Given the description of an element on the screen output the (x, y) to click on. 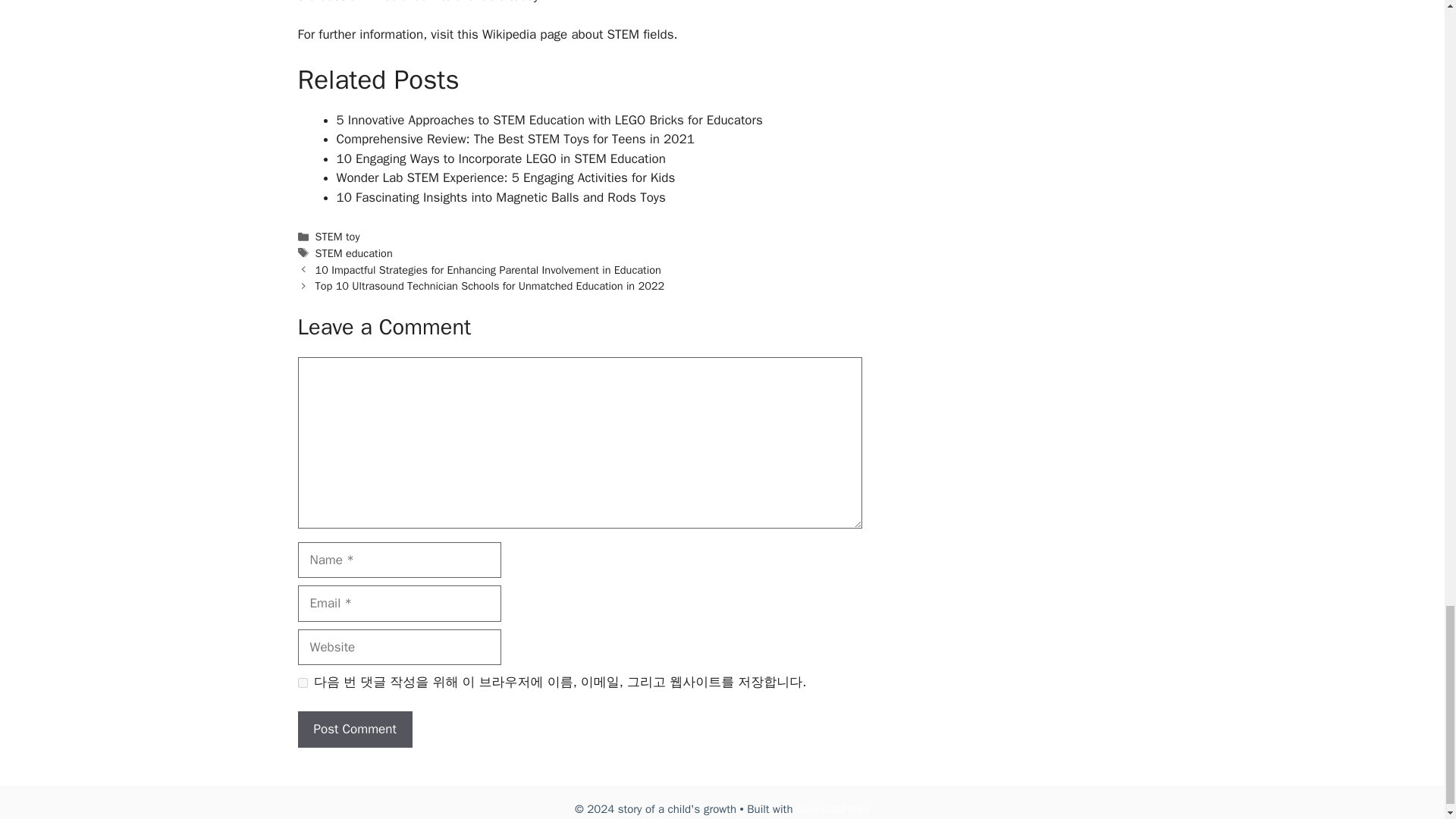
Wikipedia page (524, 34)
10 Fascinating Insights into Magnetic Balls and Rods Toys (500, 197)
Post Comment (354, 729)
STEM education (354, 253)
Comprehensive Review: The Best STEM Toys for Teens in 2021 (515, 139)
yes (302, 682)
10 Engaging Ways to Incorporate LEGO in STEM Education (500, 158)
STEM toy (337, 236)
